Given the description of an element on the screen output the (x, y) to click on. 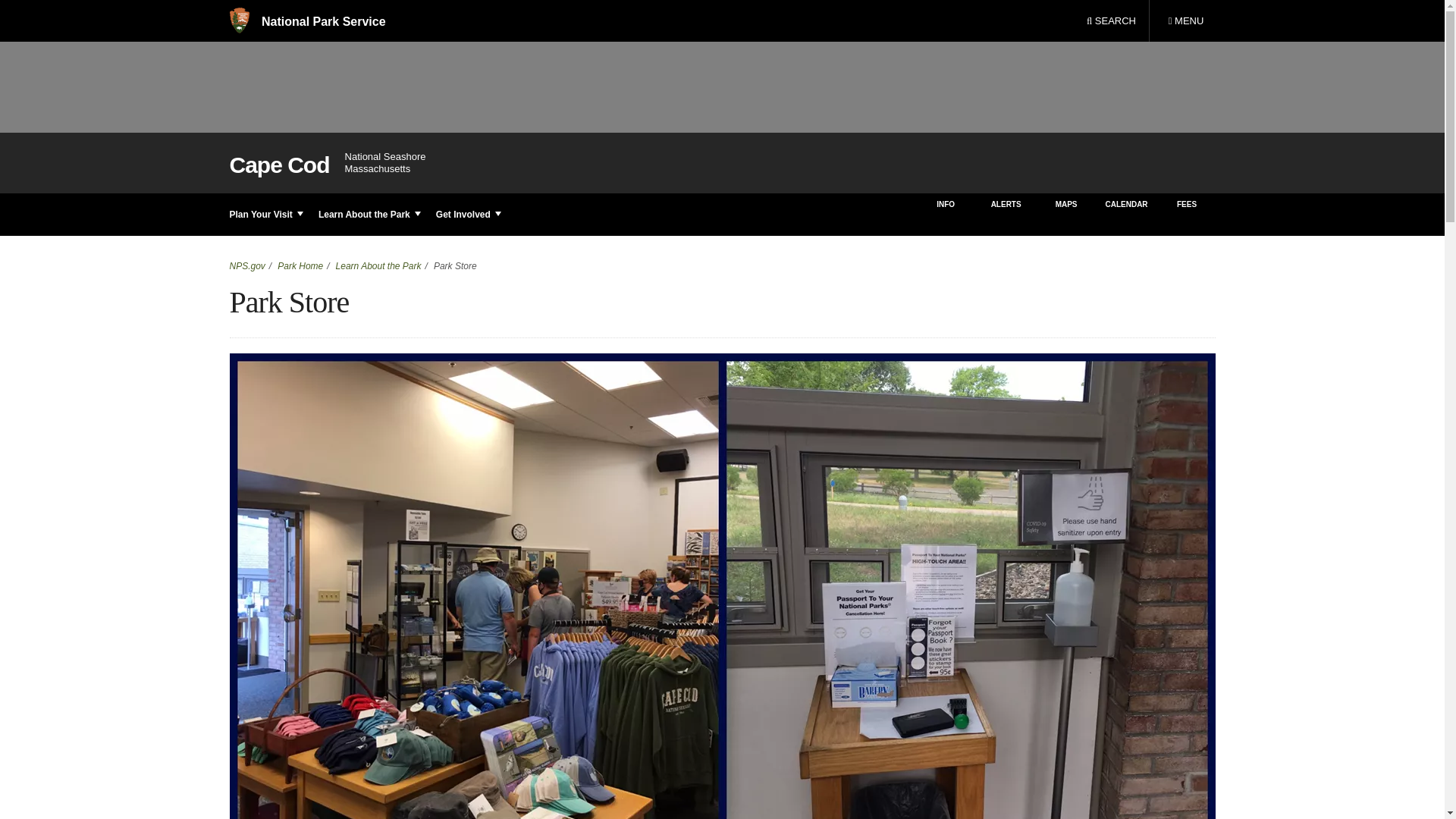
America's National Parks store at Salt Pond (1185, 20)
SEARCH (307, 20)
